Given the description of an element on the screen output the (x, y) to click on. 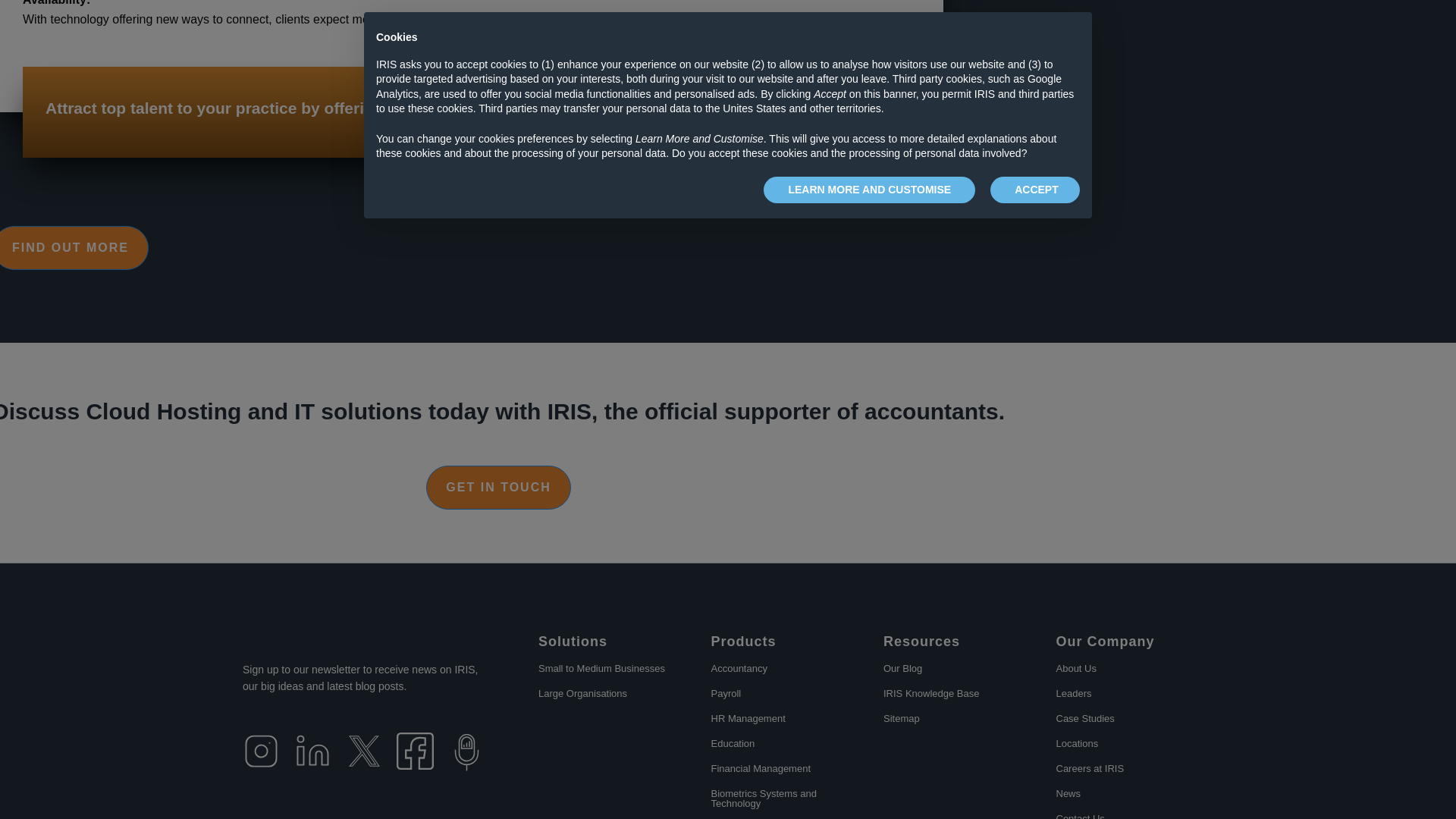
Follow IRIS Podcasts IRIS Software Group Podcasts (466, 752)
Follow IRIS Podcasts IRIS Software Group Podcasts (466, 767)
